Given the description of an element on the screen output the (x, y) to click on. 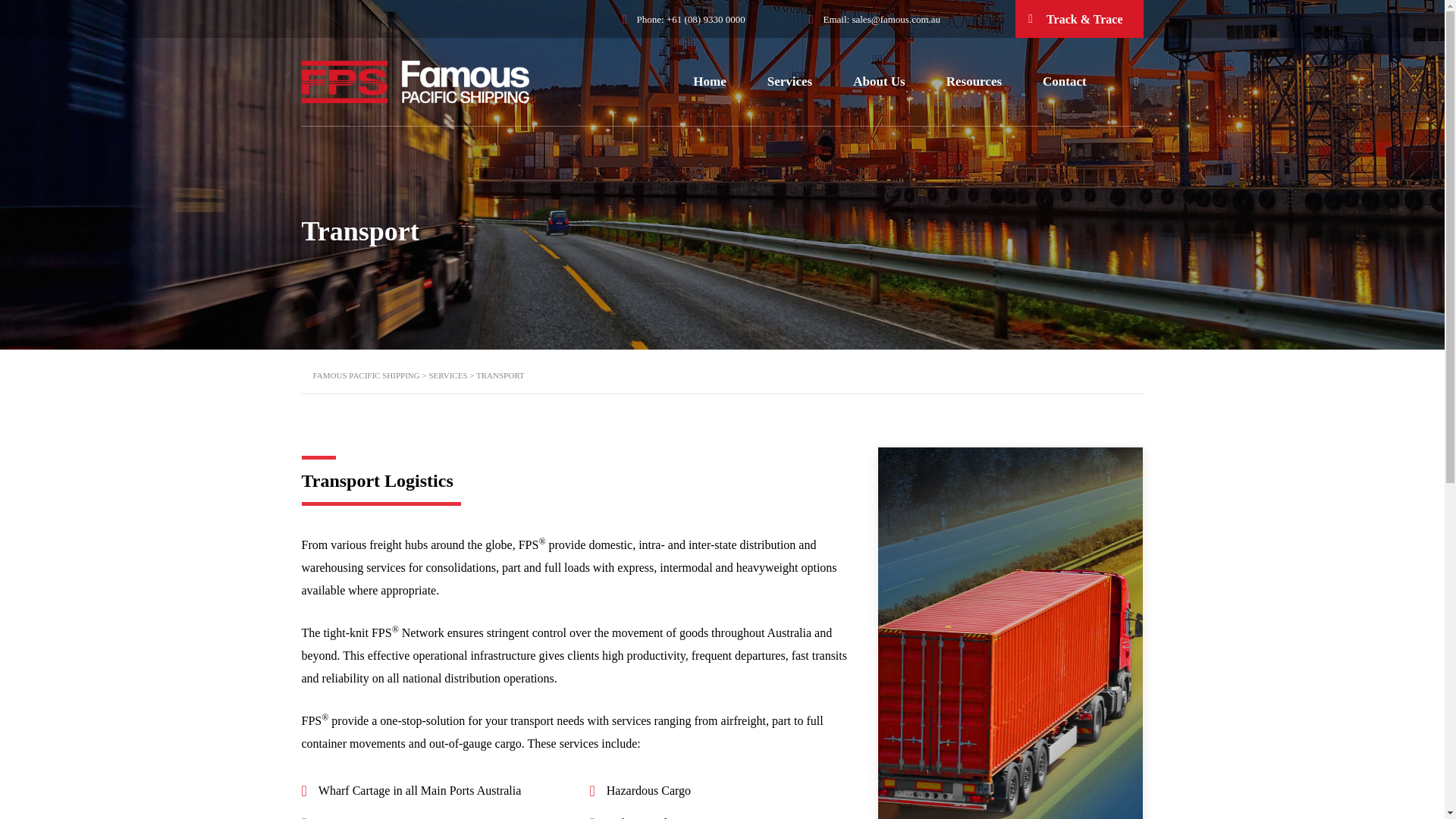
FAMOUS PACIFIC SHIPPING (366, 375)
SERVICES (447, 375)
Go to Famous Pacific Shipping. (366, 375)
About Us (879, 81)
Go to Services. (447, 375)
Services (789, 81)
Contact (1064, 81)
Home (709, 81)
Resources (973, 81)
